Given the description of an element on the screen output the (x, y) to click on. 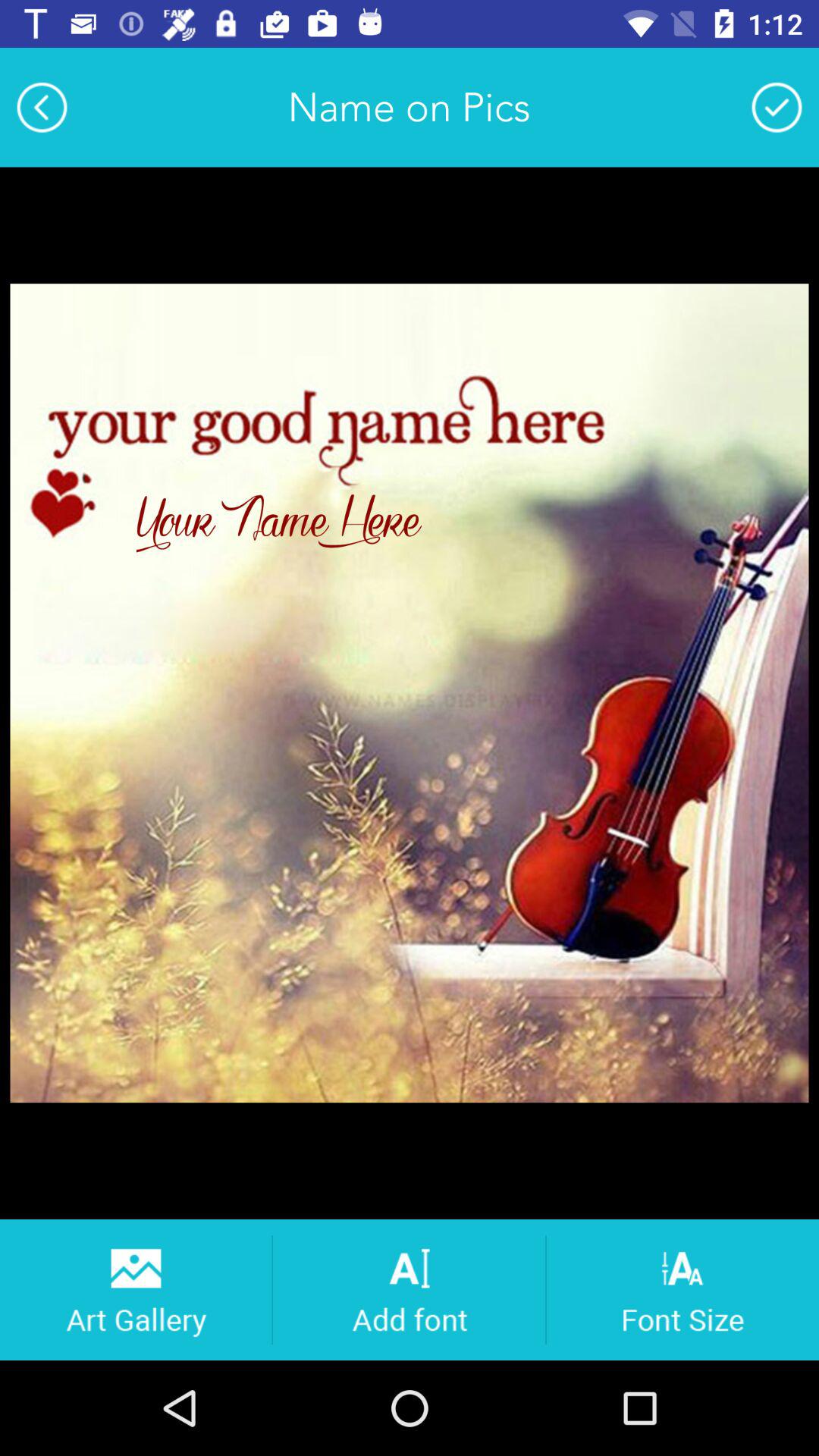
select name on pics (776, 107)
